Given the description of an element on the screen output the (x, y) to click on. 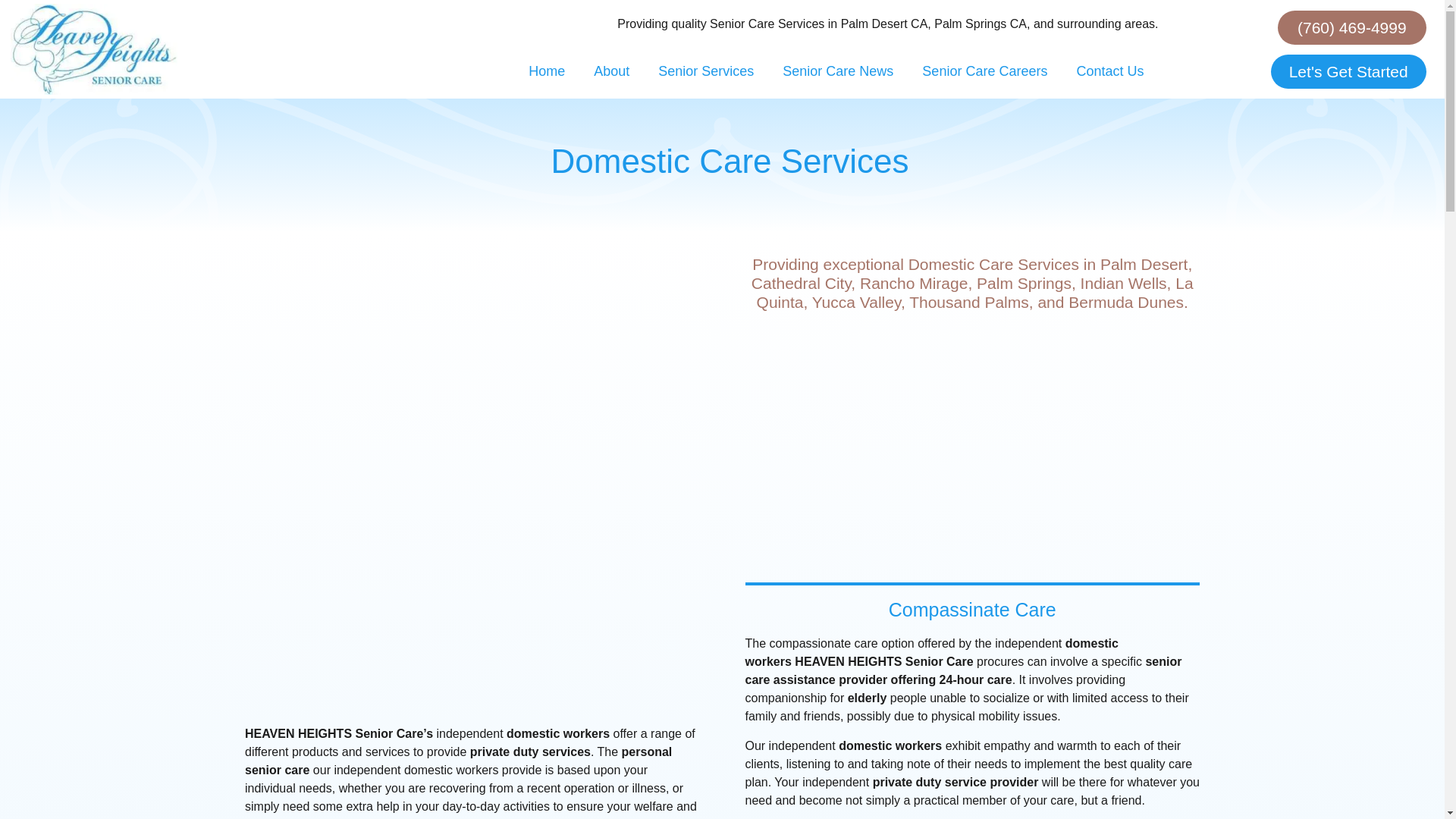
Home (546, 70)
Contact Us (1109, 70)
Let's Get Started (1348, 71)
Senior Care News (837, 70)
Senior Care Careers (984, 70)
Senior Services (705, 70)
About (611, 70)
